Given the description of an element on the screen output the (x, y) to click on. 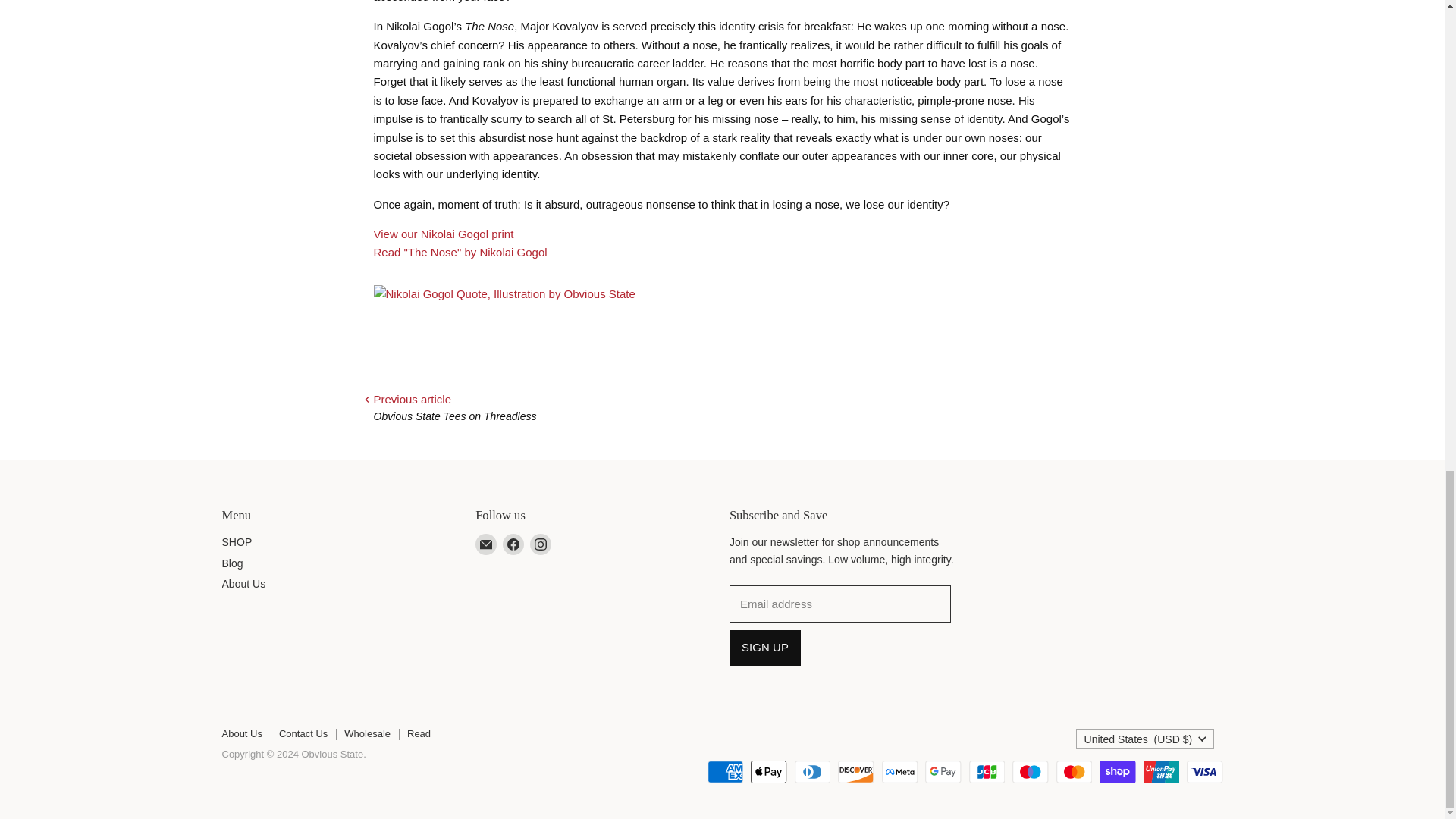
E-mail (485, 543)
View our Nikolai Gogol print (442, 233)
Instagram (540, 543)
Read "The Nose" by Nikolai Gogol (459, 251)
Facebook (513, 543)
